Given the description of an element on the screen output the (x, y) to click on. 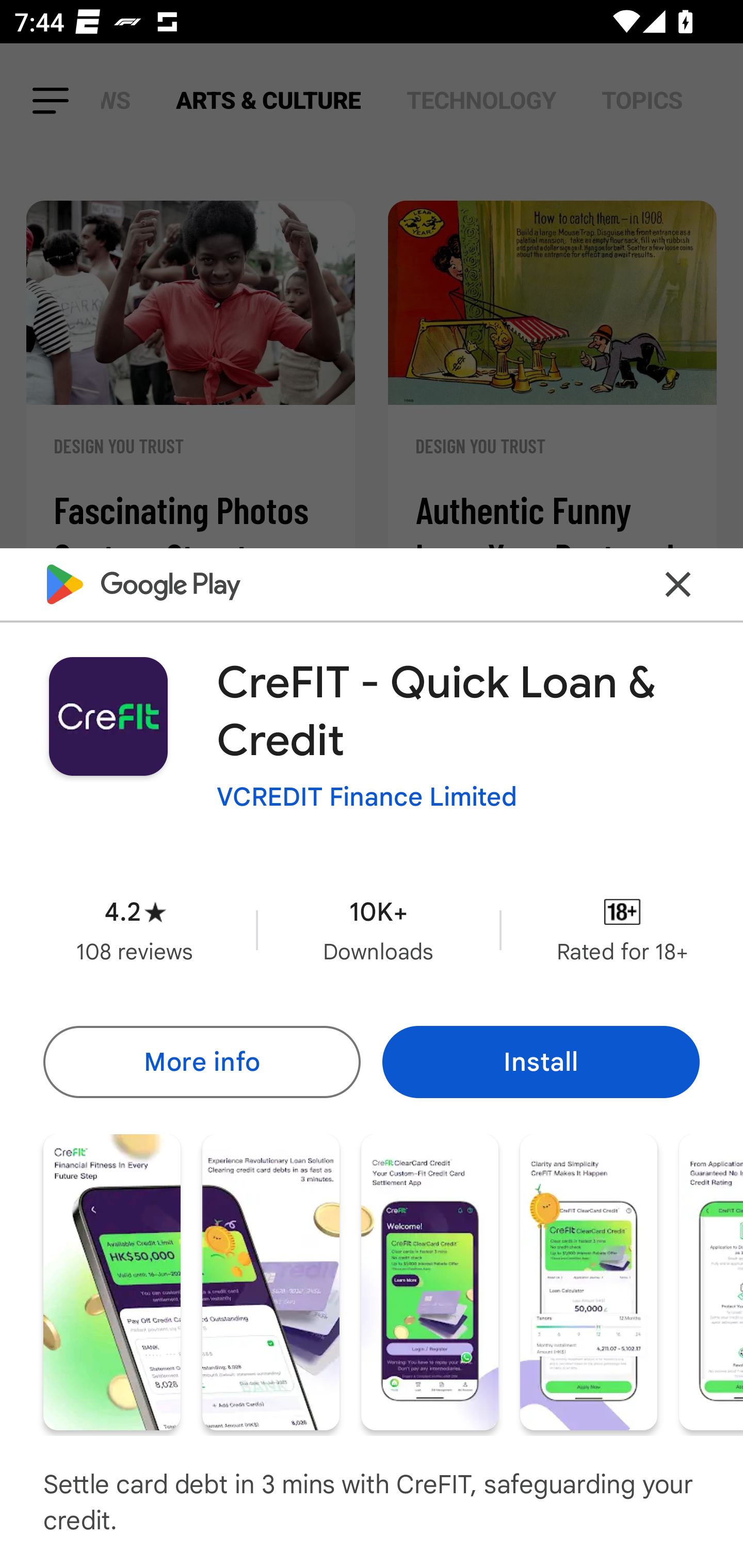
Close (677, 584)
VCREDIT Finance Limited (366, 796)
More info (201, 1061)
Install (540, 1061)
Screenshot "1" of "6" (111, 1281)
Screenshot "2" of "6" (270, 1281)
Screenshot "3" of "6" (429, 1281)
Screenshot "4" of "6" (588, 1281)
